Given the description of an element on the screen output the (x, y) to click on. 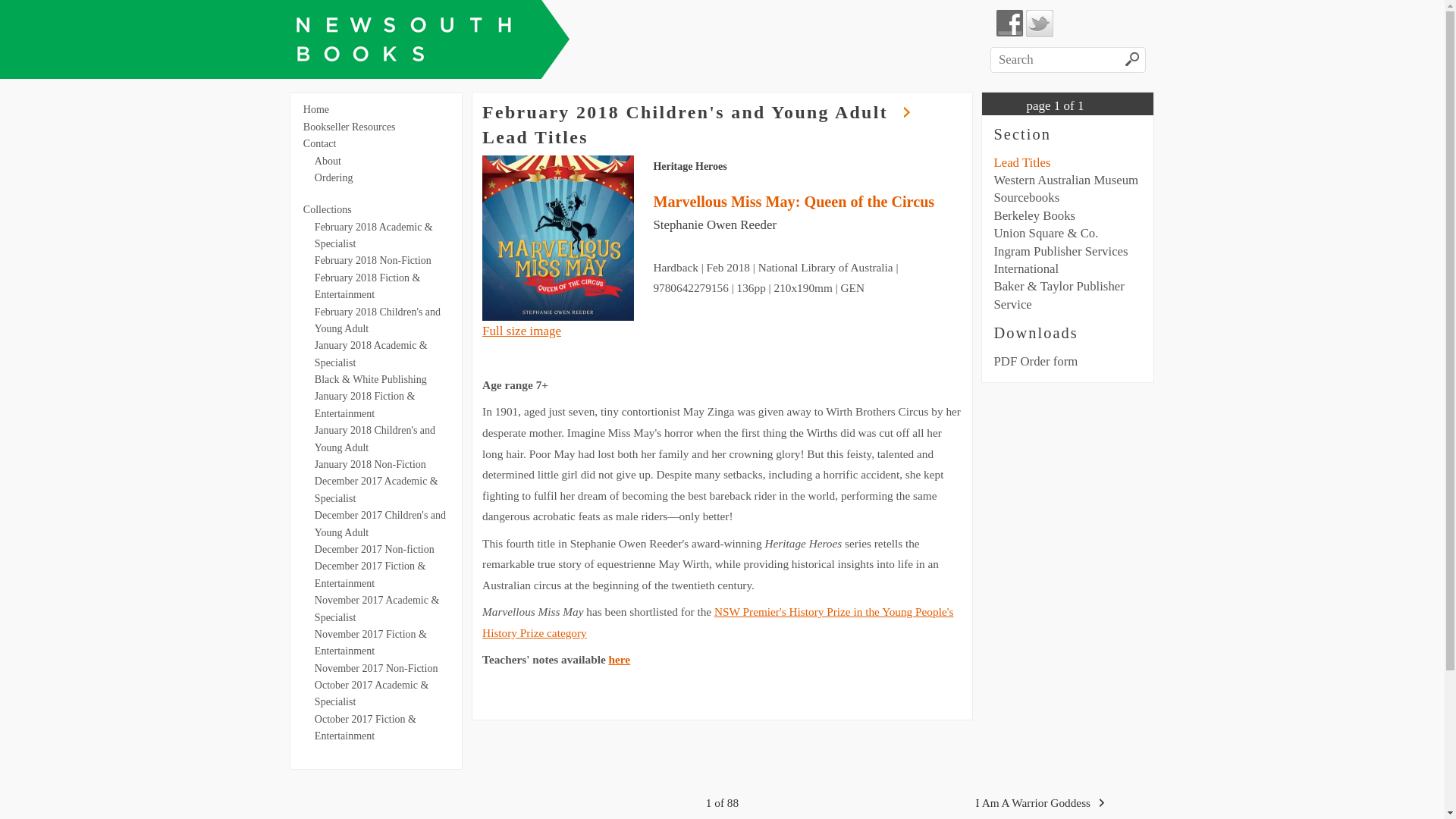
About Element type: text (327, 160)
Search Element type: text (1132, 60)
Sourcebooks Element type: text (1026, 197)
Facebook Element type: text (1009, 23)
Union Square & Co. Element type: text (1045, 232)
January 2018 Academic & Specialist Element type: text (370, 353)
February 2018 Children's and Young Adult Element type: text (377, 320)
February 2018 Fiction & Entertainment Element type: text (367, 286)
Black & White Publishing Element type: text (370, 379)
February 2018 Academic & Specialist Element type: text (373, 235)
Contact Element type: text (319, 143)
Berkeley Books Element type: text (1034, 215)
January 2018 Non-Fiction Element type: text (370, 464)
here Element type: text (619, 658)
December 2017 Children's and Young Adult Element type: text (379, 523)
Bookseller Resources Element type: text (349, 126)
PDF Order form Element type: text (1035, 361)
Baker & Taylor Publisher Service Element type: text (1058, 294)
Lead Titles Element type: text (1021, 162)
Ordering Element type: text (333, 177)
November 2017 Non-Fiction Element type: text (376, 668)
December 2017 Academic & Specialist Element type: text (376, 489)
Twitter Element type: text (1039, 23)
December 2017 Non-fiction Element type: text (374, 549)
Ingram Publisher Services International Element type: text (1060, 260)
December 2017 Fiction & Entertainment Element type: text (370, 574)
October 2017 Academic & Specialist Element type: text (371, 693)
February 2018 Non-Fiction Element type: text (372, 260)
Home Element type: text (316, 109)
Collections Element type: text (327, 209)
January 2018 Fiction & Entertainment Element type: text (364, 404)
November 2017 Fiction & Entertainment Element type: text (370, 642)
I Am A Warrior Goddess Element type: text (976, 802)
January 2018 Children's and Young Adult Element type: text (374, 438)
Western Australian Museum Element type: text (1065, 179)
November 2017 Academic & Specialist Element type: text (376, 608)
Marvellous Miss May: Queen of the Circus Element type: text (793, 201)
Full size image Element type: text (521, 330)
October 2017 Fiction & Entertainment Element type: text (365, 727)
